Given the description of an element on the screen output the (x, y) to click on. 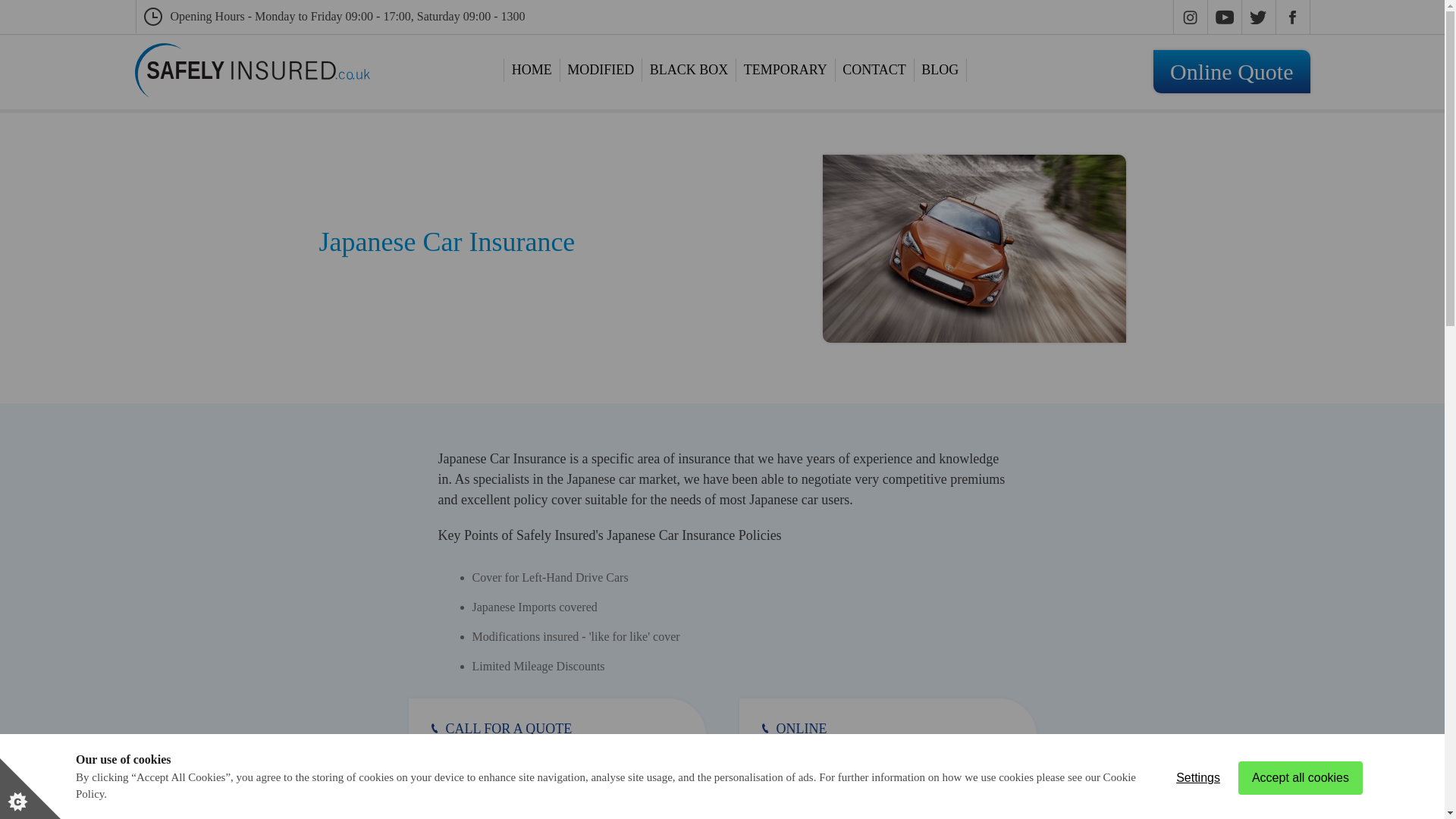
BLOG (555, 743)
Online Quote (940, 69)
CONTACT (1231, 71)
BLACK BOX (874, 69)
HOME (689, 69)
MODIFIED (531, 69)
TEMPORARY (600, 69)
